Given the description of an element on the screen output the (x, y) to click on. 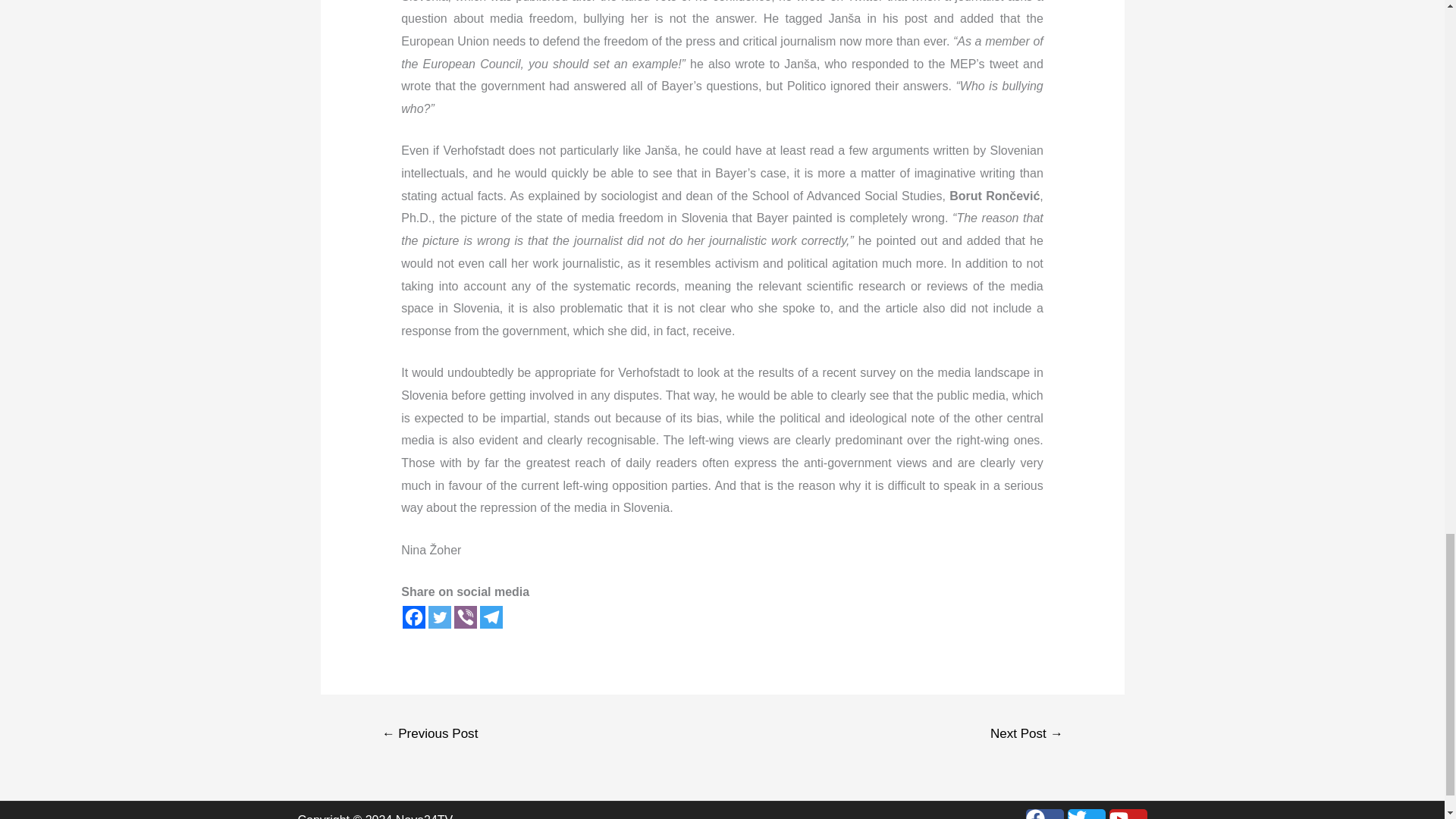
Telegram (491, 617)
Facebook (414, 617)
Viber (465, 617)
Twitter (439, 617)
